Given the description of an element on the screen output the (x, y) to click on. 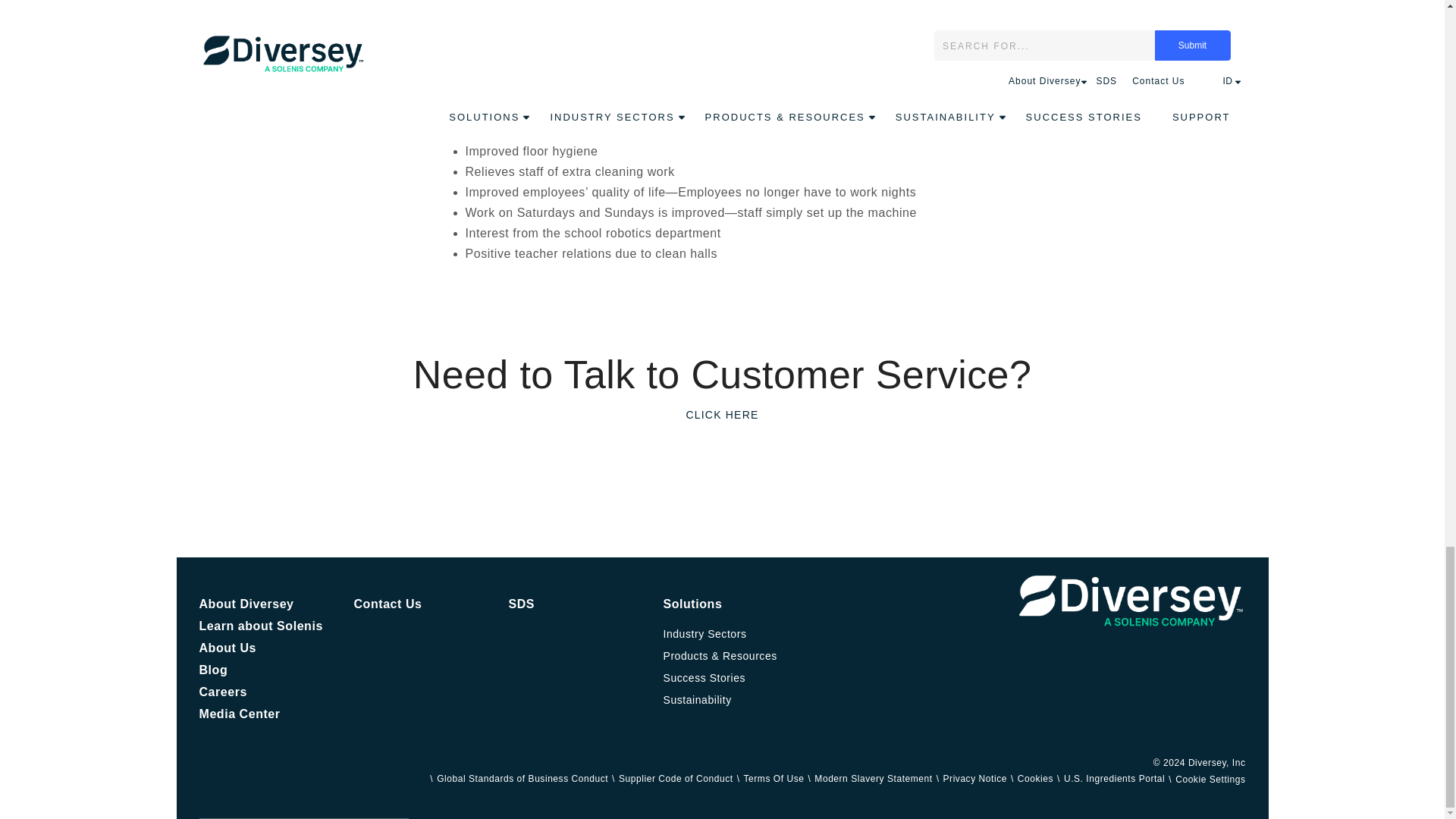
Modern Slavery and Human Trafficking Policy (867, 777)
Home (1130, 600)
Cookie Policy (1029, 777)
